Given the description of an element on the screen output the (x, y) to click on. 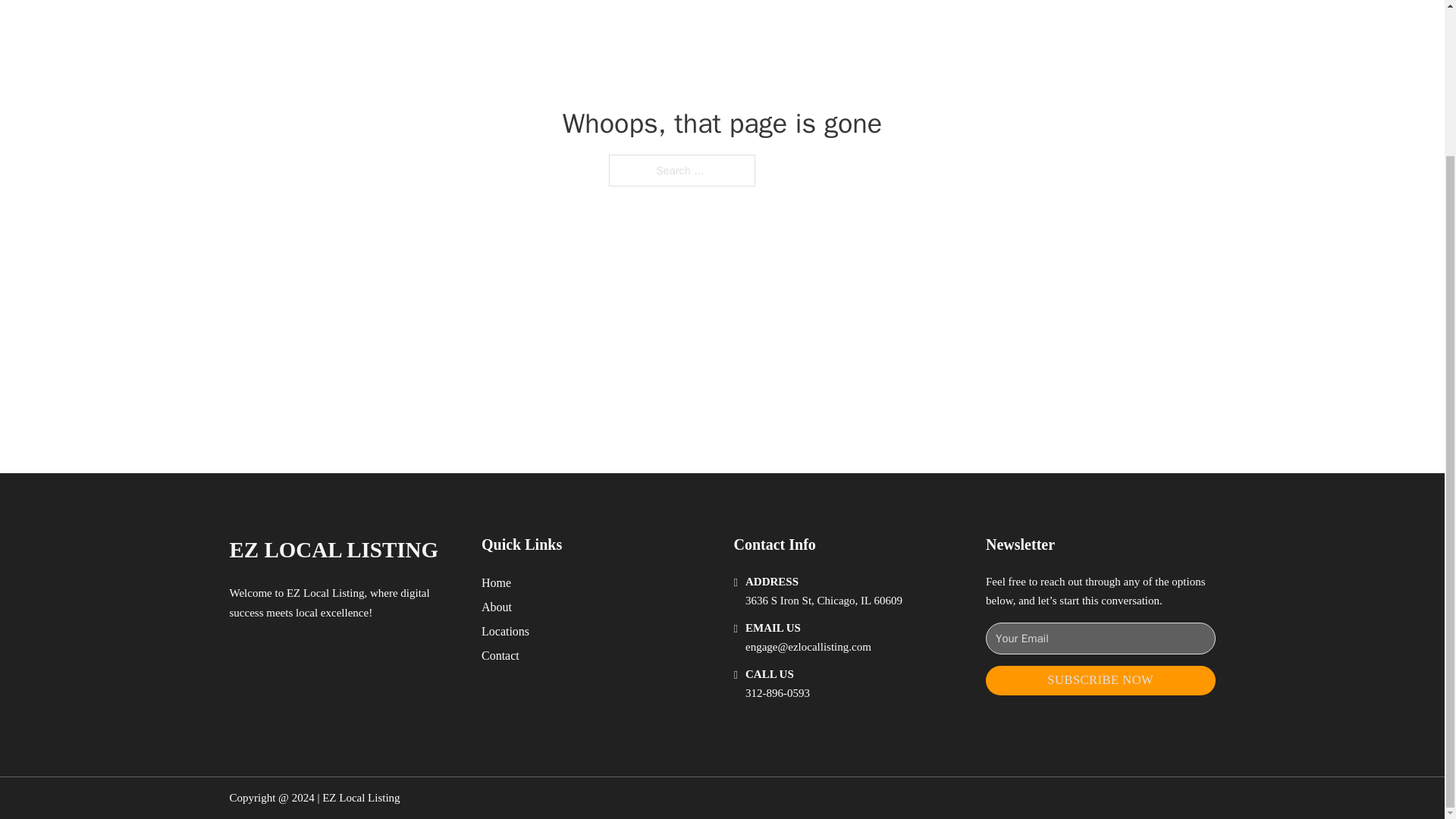
EZ LOCAL LISTING (333, 549)
Contact (500, 655)
SUBSCRIBE NOW (1100, 680)
Home (496, 582)
Locations (505, 630)
About (496, 607)
312-896-0593 (777, 693)
